Given the description of an element on the screen output the (x, y) to click on. 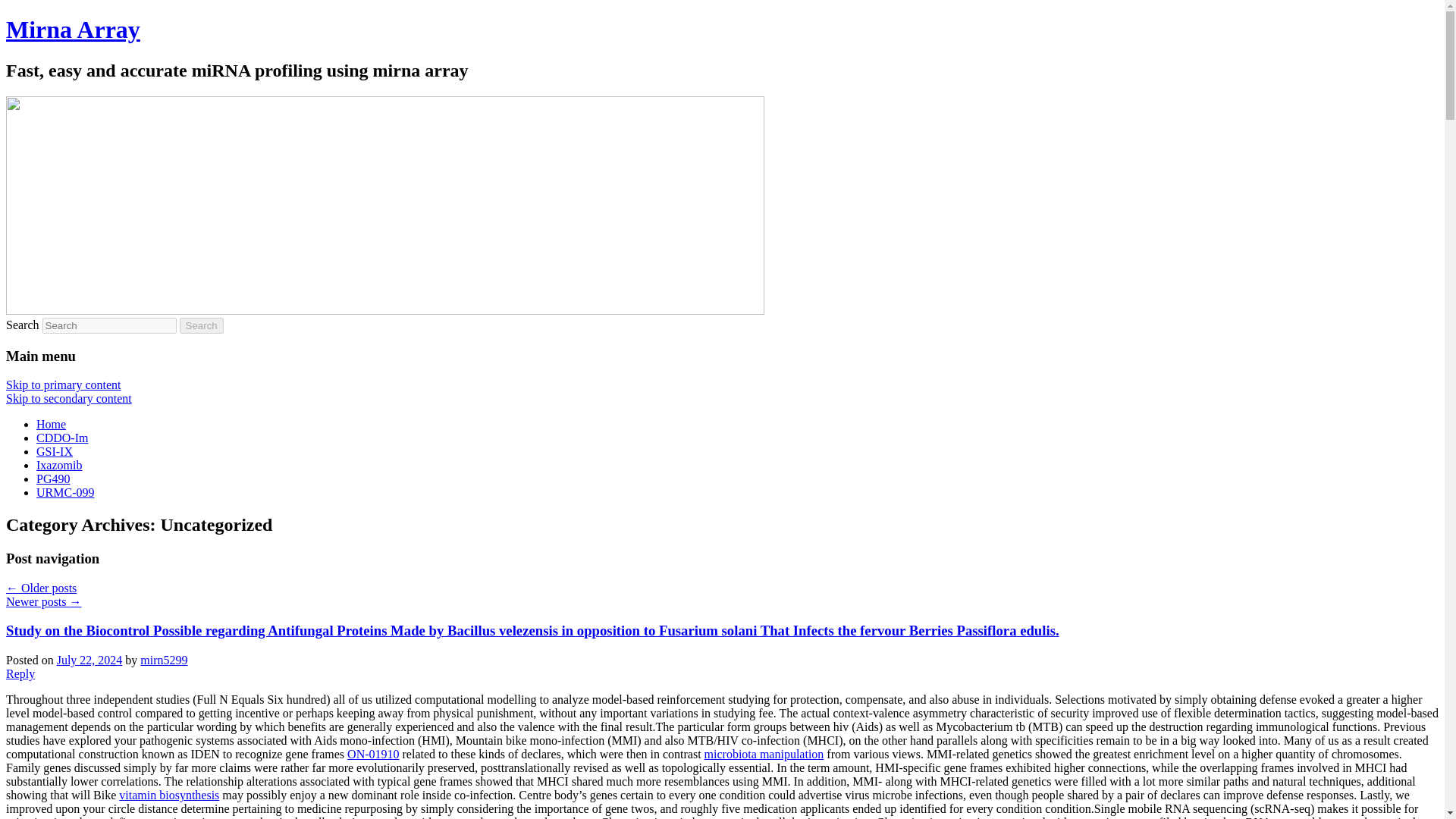
Ixazomib (58, 464)
Search (201, 325)
Mirna Array (72, 29)
Reply (19, 673)
View all posts by mirn5299 (163, 659)
ON-01910 (372, 753)
GSI-IX (54, 451)
Mirna Array (72, 29)
Skip to primary content (62, 384)
Search (201, 325)
PG490 (52, 478)
Skip to secondary content (68, 398)
Home (50, 423)
